Given the description of an element on the screen output the (x, y) to click on. 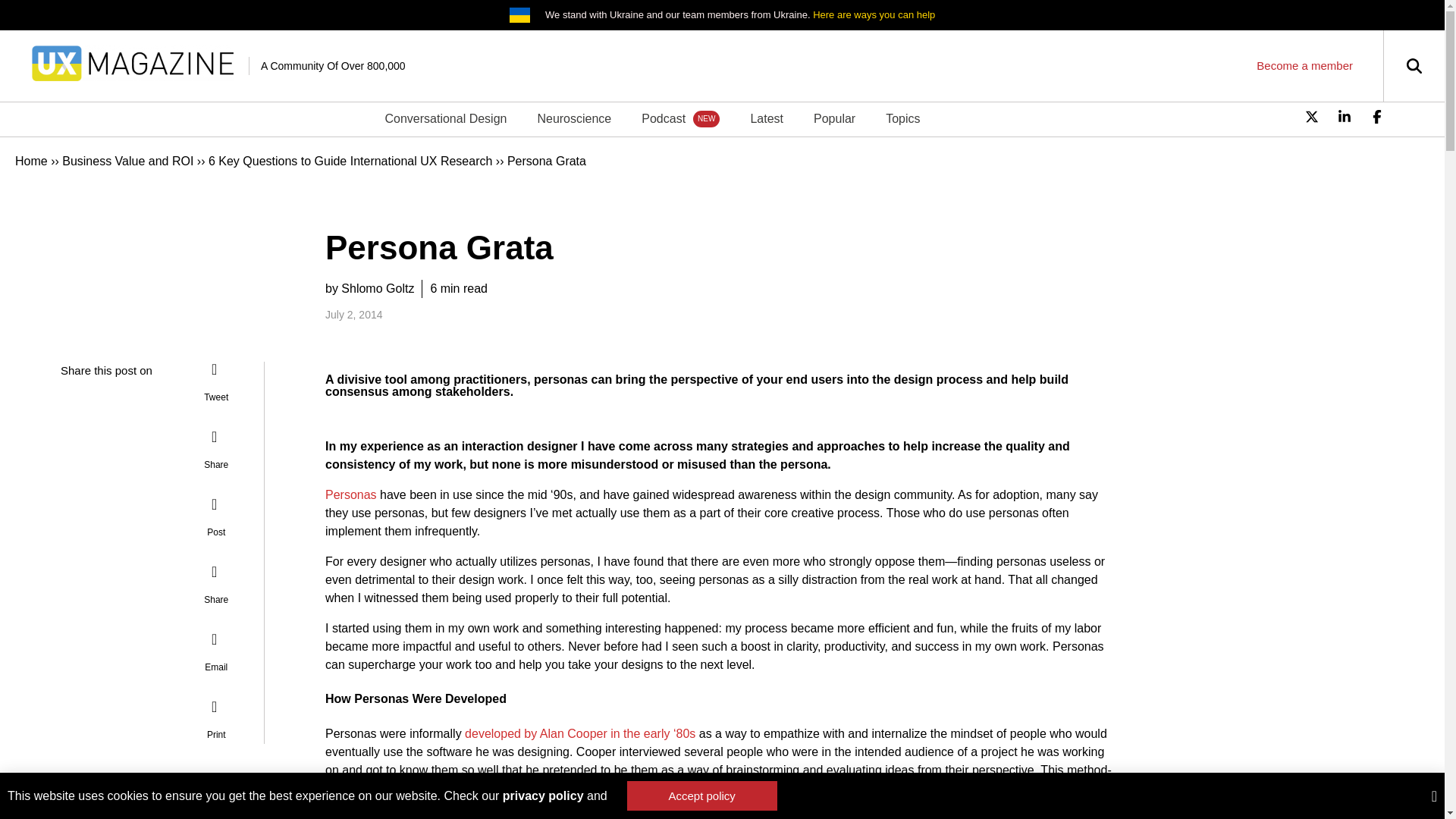
Neuroscience (573, 118)
Topics (902, 118)
6 Key Questions to Guide International UX Research (350, 160)
Business Value and ROI (127, 160)
Conversational Design (445, 118)
Here are ways you can help (873, 14)
Personas (350, 494)
Podcast (680, 118)
Become a member (1304, 65)
created software (854, 788)
Home (31, 160)
Latest (766, 118)
Popular (833, 118)
